Given the description of an element on the screen output the (x, y) to click on. 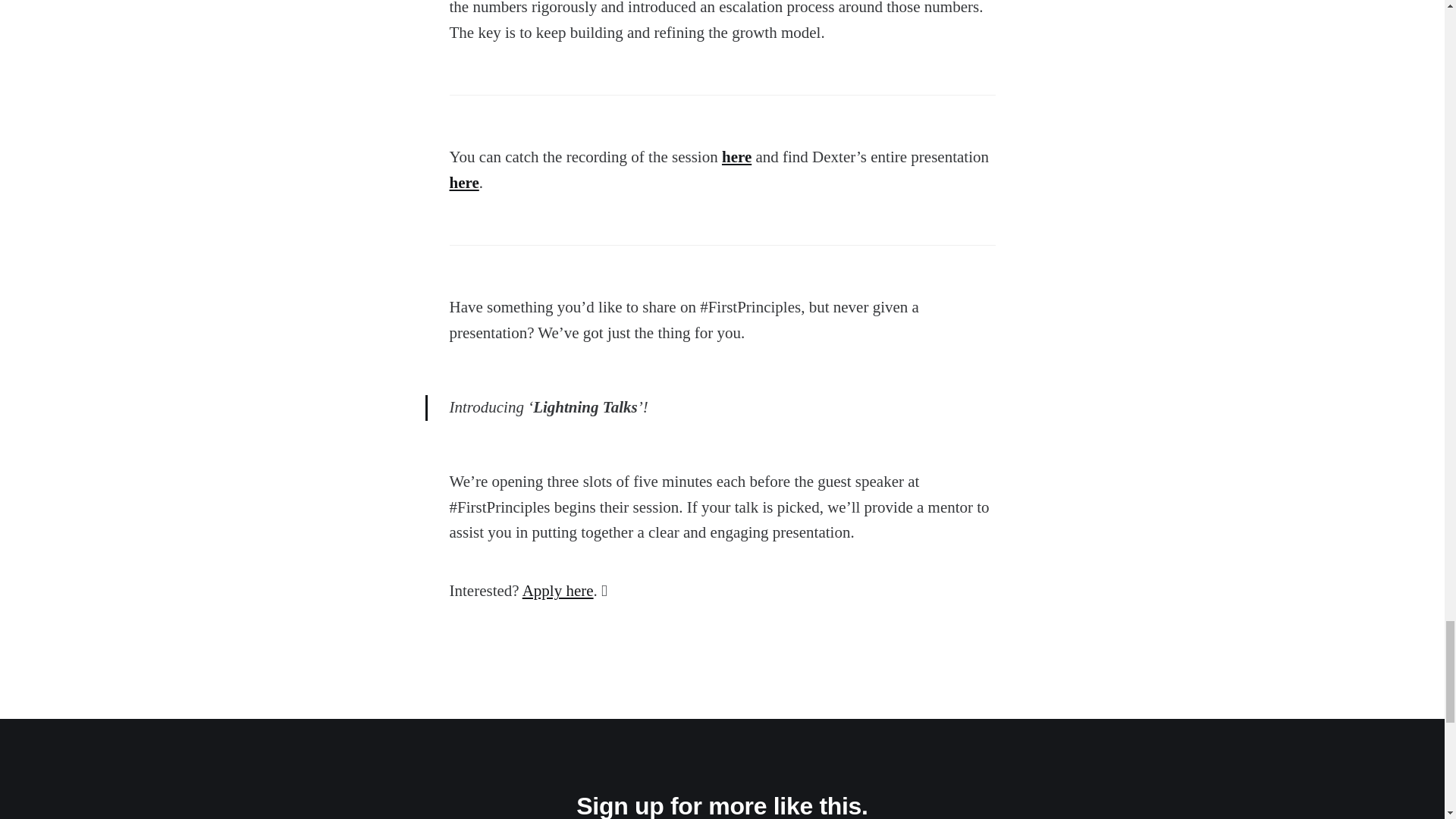
Apply here (558, 590)
here (736, 157)
here (463, 182)
